Given the description of an element on the screen output the (x, y) to click on. 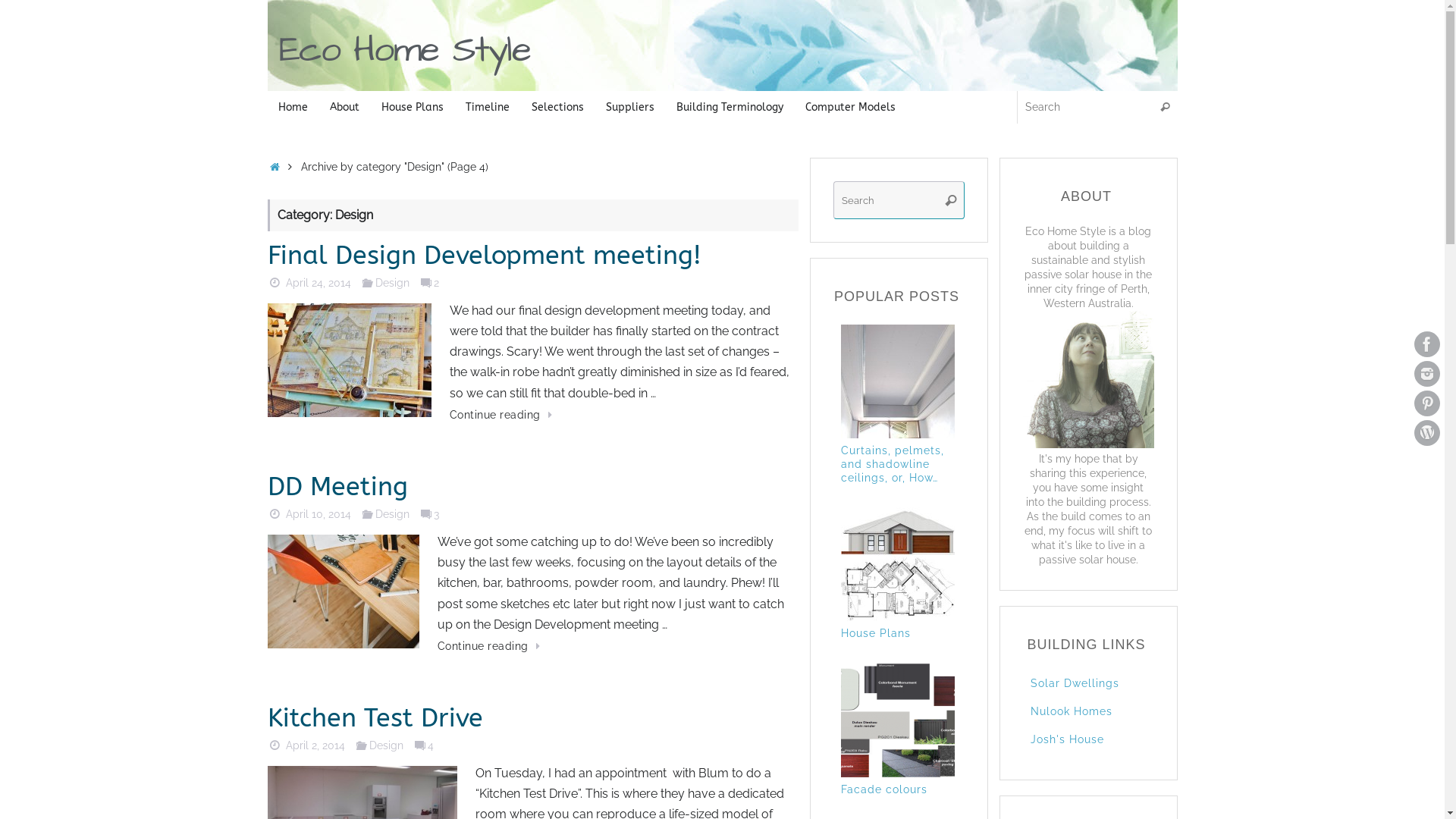
Facebook Element type: hover (1427, 344)
Selections Element type: text (557, 107)
Josh's House Element type: text (1066, 739)
Continue reading Element type: text (502, 414)
Building Terminology Element type: text (729, 107)
Facade colours Element type: hover (896, 720)
Continue reading Element type: text (490, 646)
Timeline Element type: text (487, 107)
Categories Element type: hover (367, 282)
April 10, 2014 Element type: text (318, 513)
4 Element type: text (422, 744)
2 Element type: text (428, 282)
Instagram Element type: hover (1427, 373)
House Plans Element type: text (412, 107)
Eco Home Style Element type: text (404, 50)
Design Element type: text (386, 744)
Categories Element type: hover (367, 513)
3 Element type: text (428, 513)
DD Meeting Element type: text (336, 486)
Home Element type: text (292, 107)
4 Comments Element type: hover (419, 744)
Solar Dwellings Element type: text (1073, 683)
3 Comments Element type: hover (425, 513)
Design Element type: text (392, 513)
House Plans Element type: text (901, 641)
Date Element type: hover (274, 282)
Date Element type: hover (274, 513)
Computer Models Element type: text (850, 107)
Suppliers Element type: text (629, 107)
2 Comments Element type: hover (425, 282)
Final Design Development meeting! Element type: text (483, 255)
Pinterest Element type: hover (1427, 403)
Date Element type: hover (274, 744)
April 2, 2014 Element type: text (315, 744)
Nulook Homes Element type: text (1070, 711)
Categories Element type: hover (361, 744)
House Plans Element type: hover (896, 564)
Facade colours Element type: text (901, 797)
About Element type: text (344, 107)
Wordpress Element type: hover (1427, 432)
Design Element type: text (392, 282)
Kitchen Test Drive Element type: text (374, 717)
April 24, 2014 Element type: text (318, 282)
